Given the description of an element on the screen output the (x, y) to click on. 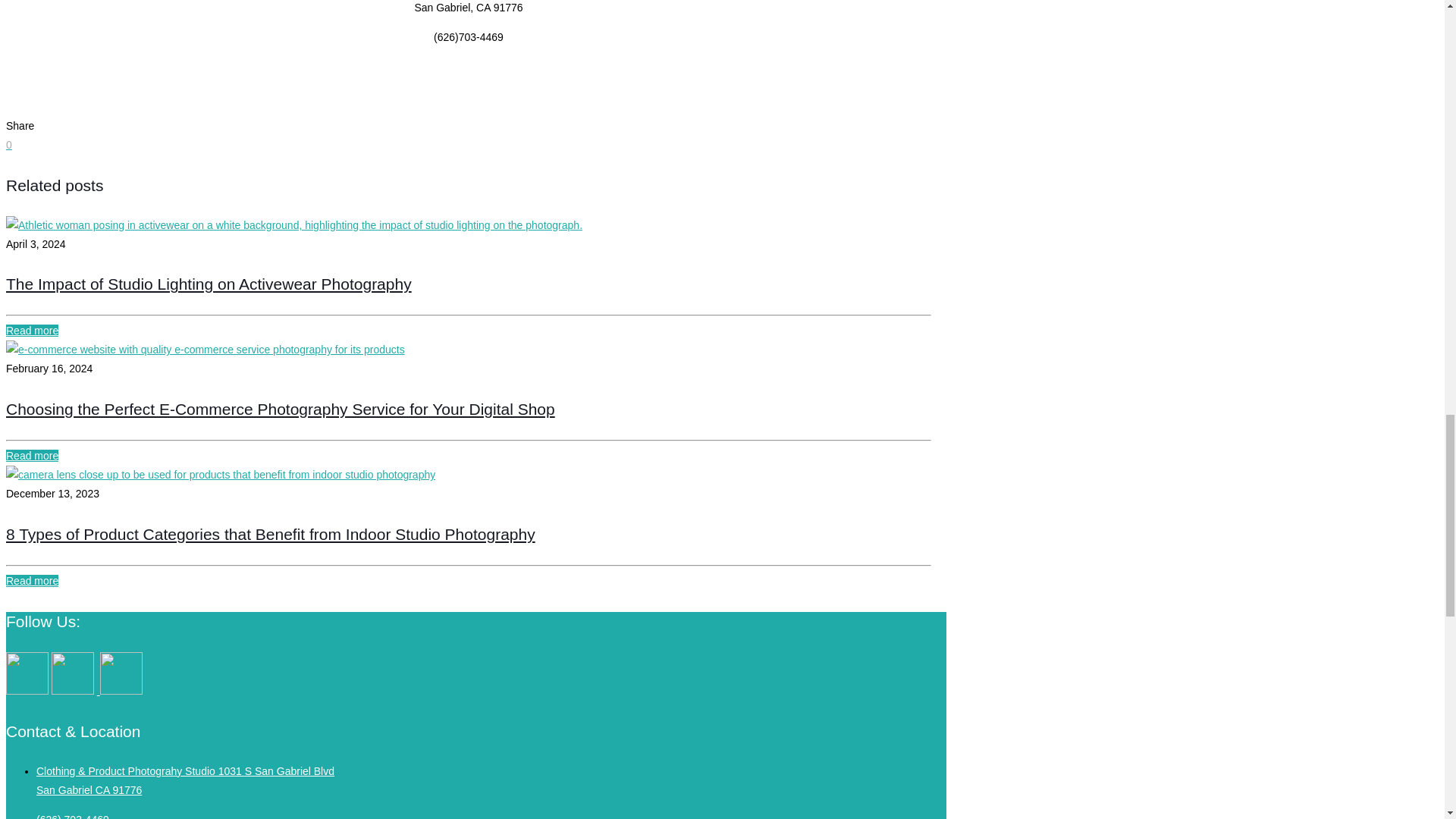
0 (8, 144)
Read more (31, 330)
The Impact of Studio Lighting on Activewear Photography (208, 283)
